Given the description of an element on the screen output the (x, y) to click on. 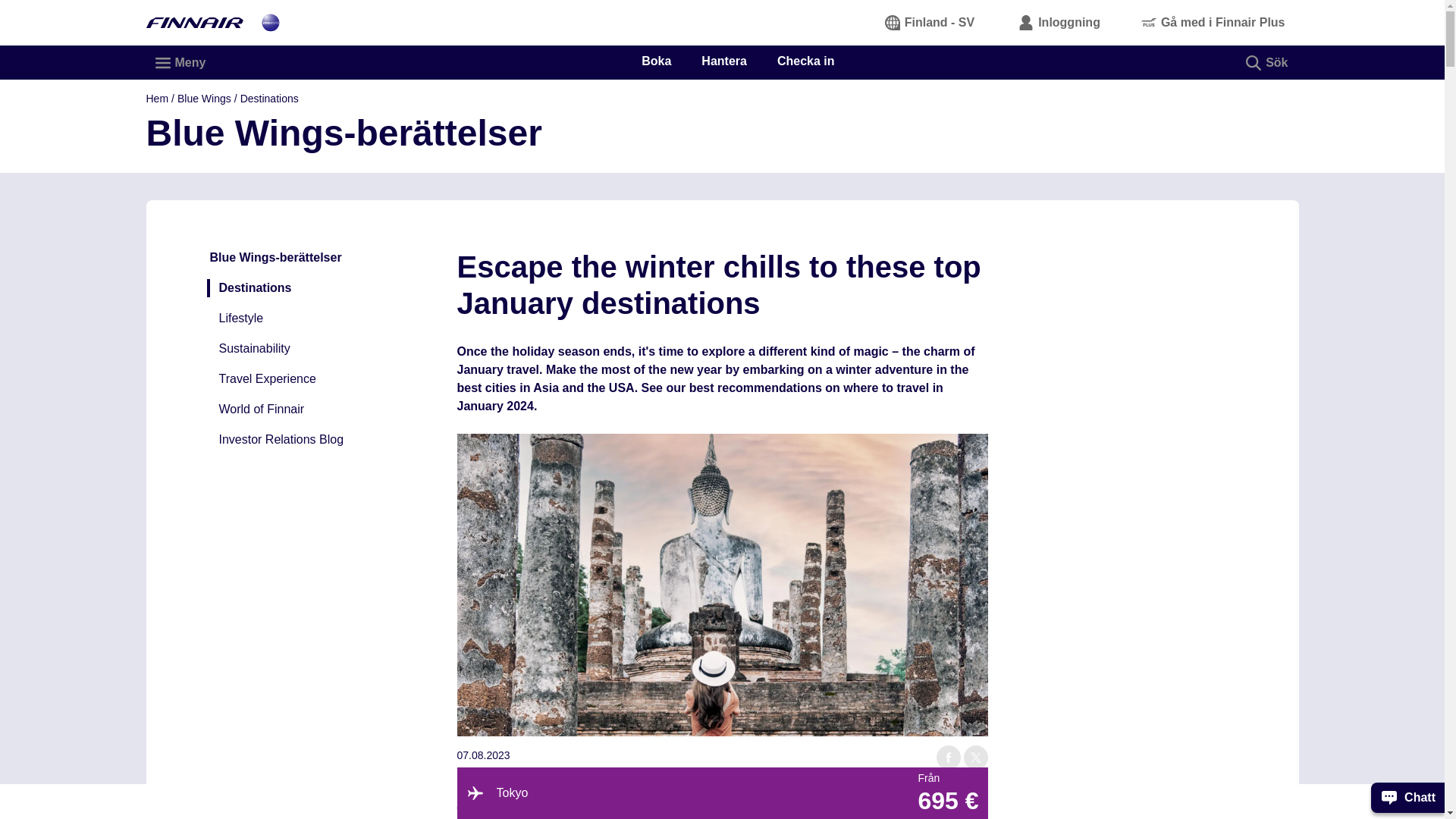
Inloggning (1059, 22)
Meny (180, 61)
Boka (656, 61)
Checka in (805, 61)
Finland - SV (930, 22)
Hantera (723, 61)
